Given the description of an element on the screen output the (x, y) to click on. 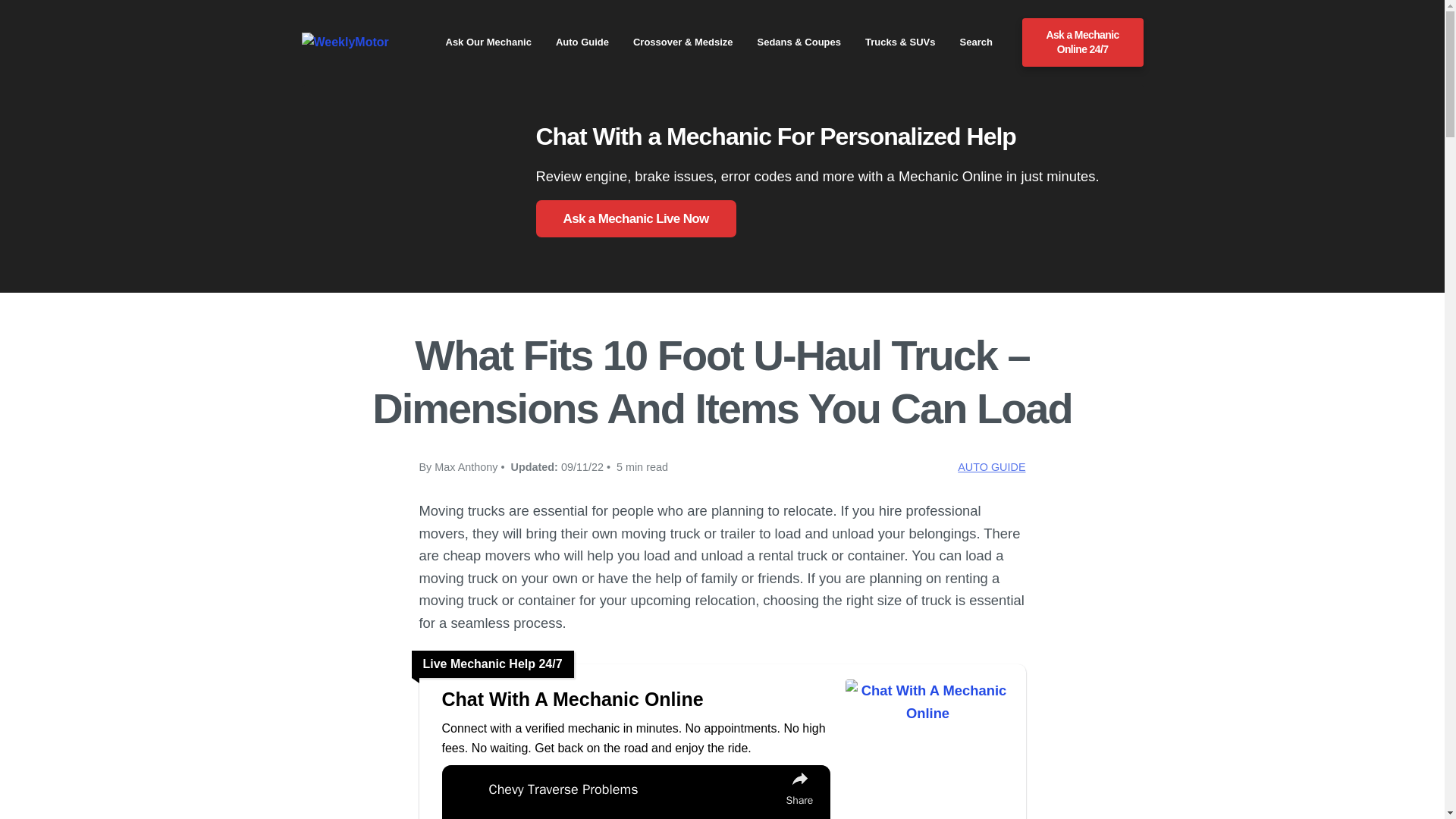
AUTO GUIDE (991, 467)
Chat With A Mechanic Online (927, 716)
Search (975, 42)
Chevy Traverse Problems (632, 789)
Ask Our Mechanic (488, 42)
Ask a Mechanic Live Now (635, 218)
Chat With A Mechanic Online (635, 699)
Auto Guide (582, 42)
Chat With A Mechanic Online (635, 699)
